Given the description of an element on the screen output the (x, y) to click on. 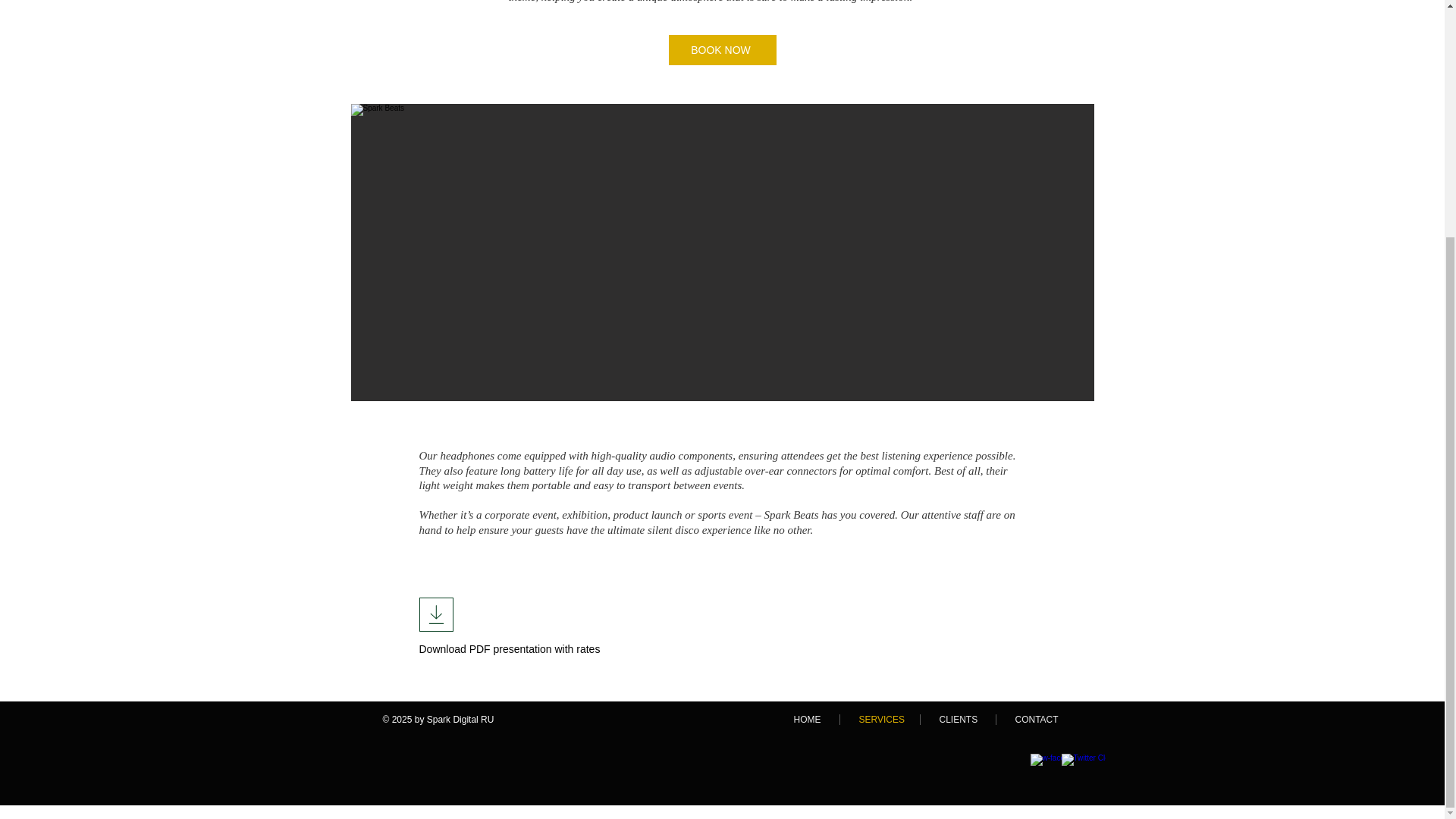
SERVICES (880, 719)
BOOK NOW (722, 50)
HOME (807, 719)
CLIENTS (957, 719)
CONTACT (1036, 719)
